Given the description of an element on the screen output the (x, y) to click on. 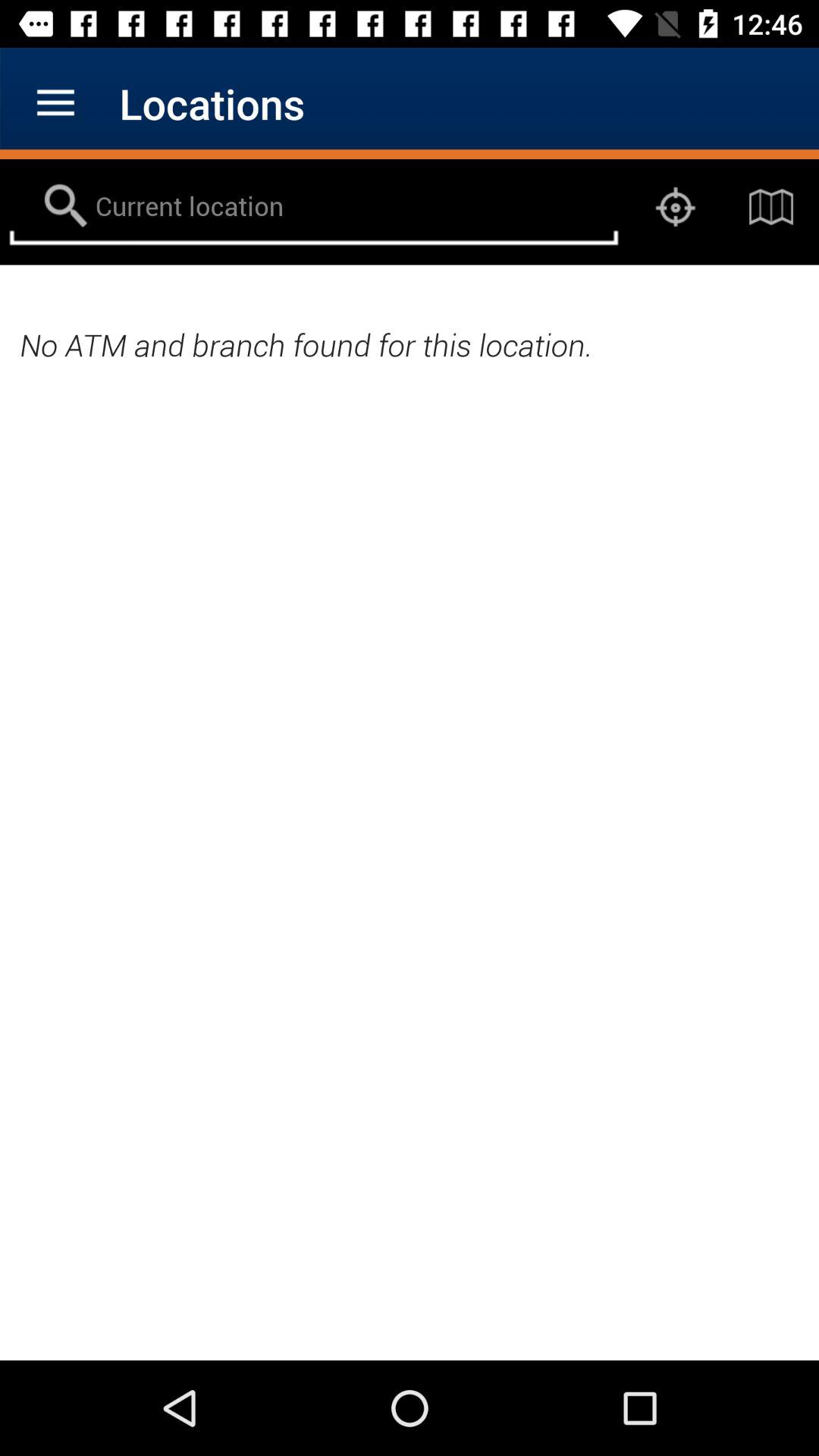
type in your location (313, 206)
